Given the description of an element on the screen output the (x, y) to click on. 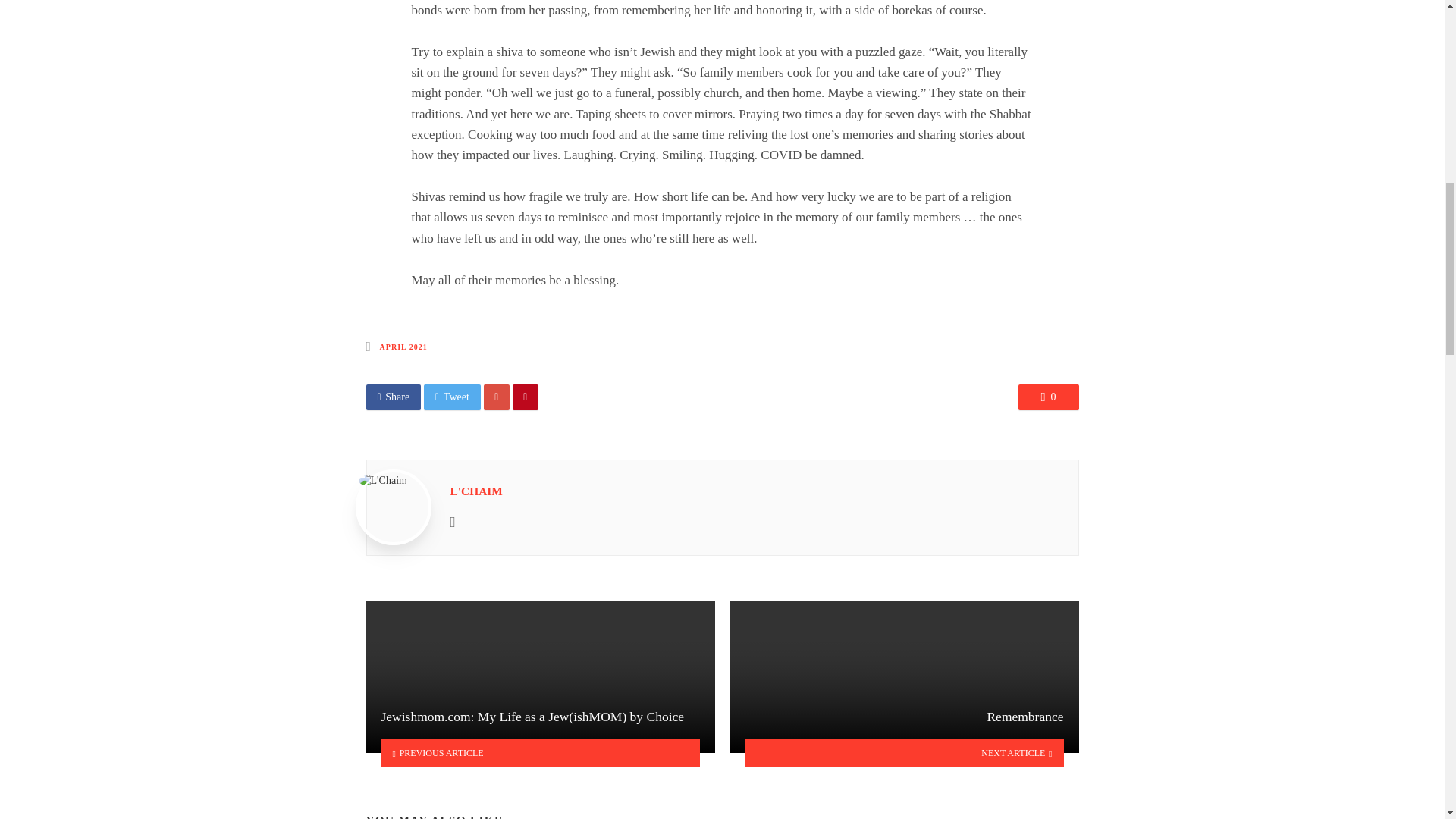
Share (392, 397)
0 (1047, 397)
Posts by L'Chaim (475, 490)
L'CHAIM (475, 490)
Tweet (451, 397)
PREVIOUS ARTICLE (539, 752)
APRIL 2021 (404, 347)
NEXT ARTICLE (903, 752)
